Given the description of an element on the screen output the (x, y) to click on. 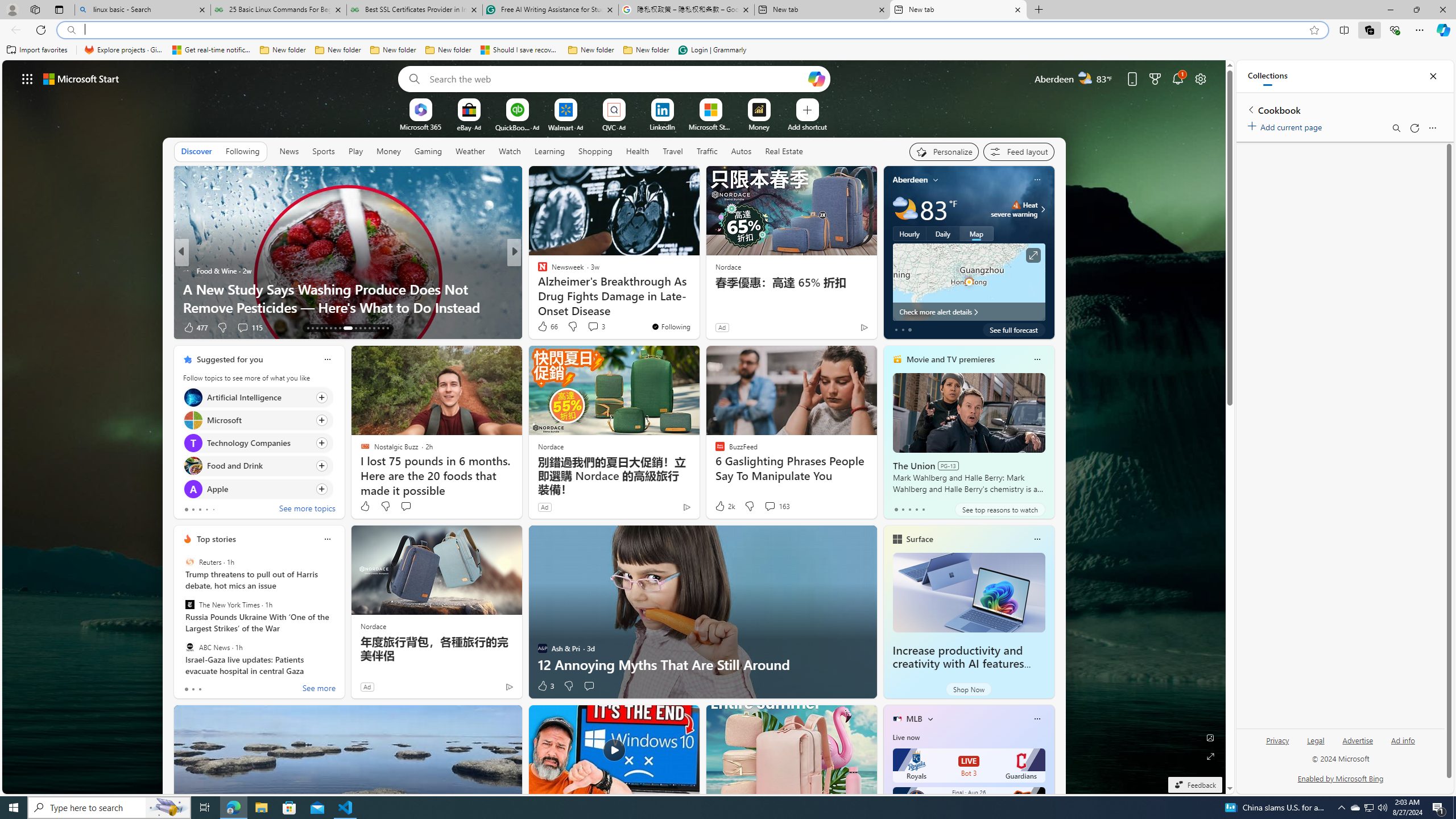
AutomationID: tab-24 (364, 328)
tab-1 (192, 689)
55 Like (543, 327)
Money (388, 151)
View comments 163 Comment (776, 505)
linux basic - Search (142, 9)
The Weather Channel (537, 270)
Shopping (595, 151)
Real Estate (783, 151)
Feed settings (1018, 151)
Play (355, 151)
